Given the description of an element on the screen output the (x, y) to click on. 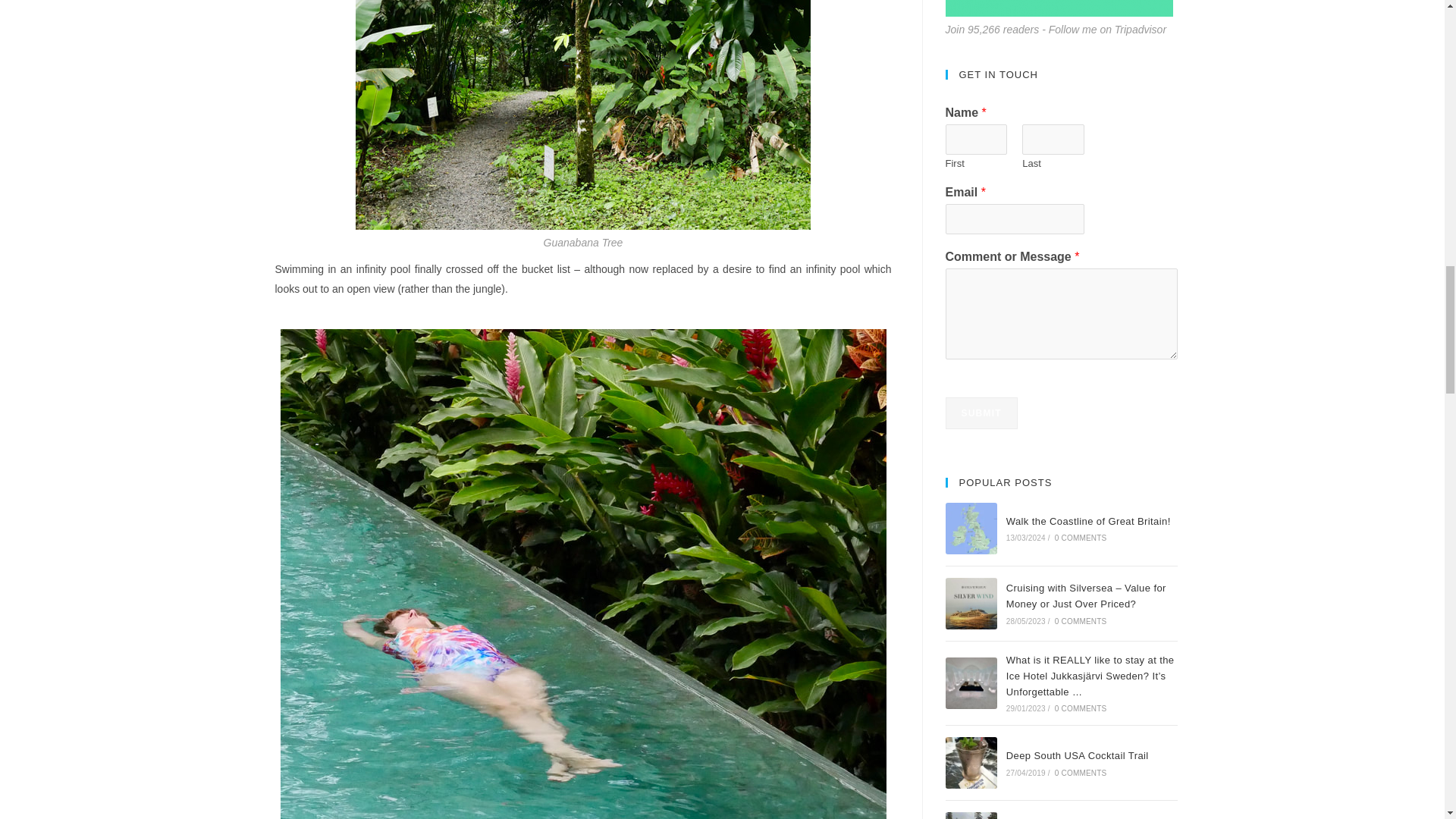
Walk the Coastline of Great Britain! (969, 528)
HELP! I am on the wrong holiday! (969, 815)
Deep South USA Cocktail Trail (969, 762)
TRIPADVISOR (1058, 8)
